Given the description of an element on the screen output the (x, y) to click on. 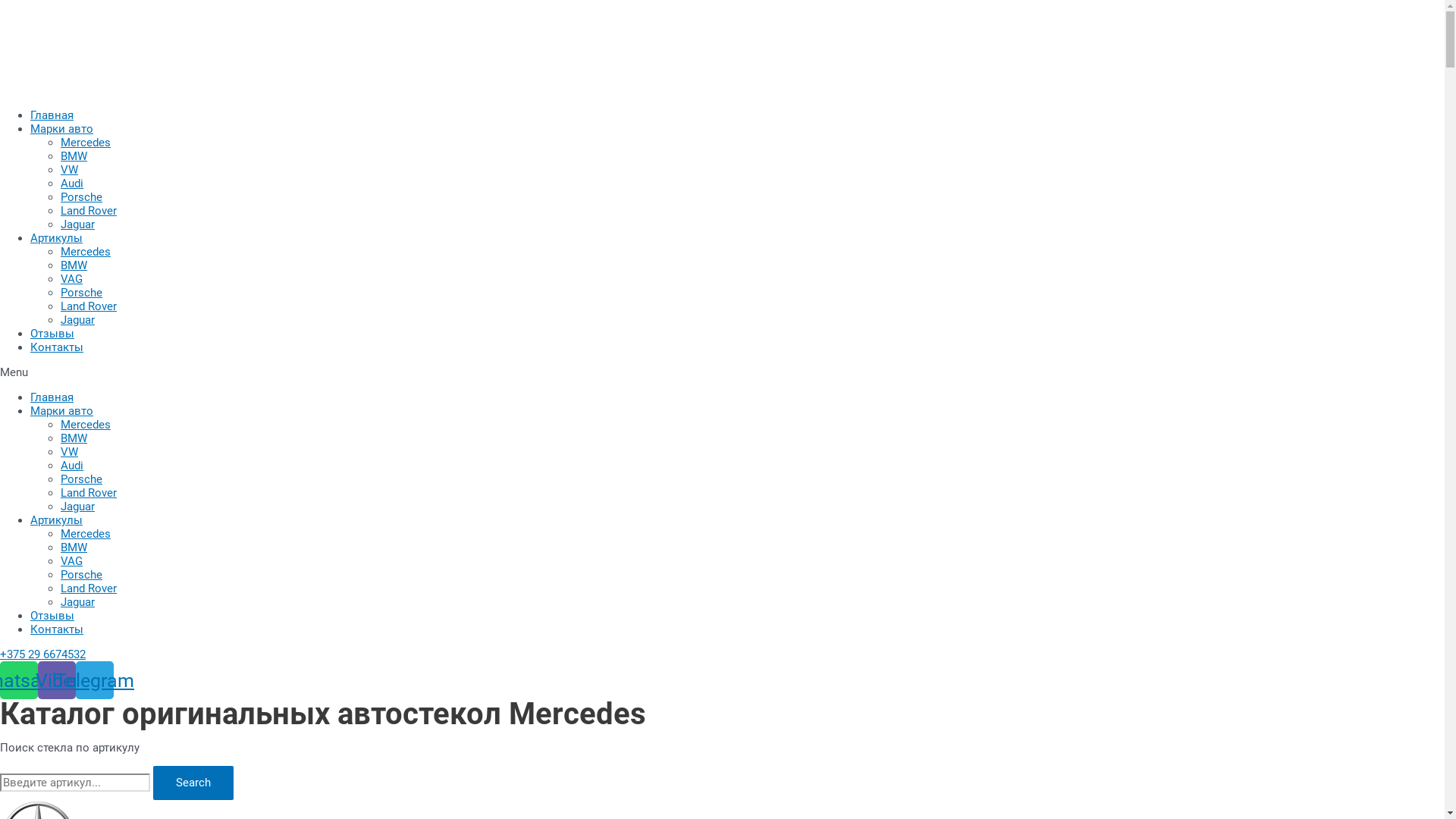
VW Element type: text (69, 451)
Porsche Element type: text (81, 574)
Mercedes Element type: text (85, 424)
Porsche Element type: text (81, 196)
Jaguar Element type: text (77, 601)
BMW Element type: text (73, 156)
VAG Element type: text (71, 560)
BMW Element type: text (73, 547)
VW Element type: text (69, 169)
Search Element type: text (193, 782)
Land Rover Element type: text (88, 588)
Land Rover Element type: text (88, 492)
Land Rover Element type: text (88, 210)
Land Rover Element type: text (88, 306)
Whatsapp Element type: text (18, 680)
Porsche Element type: text (81, 479)
Telegram Element type: text (94, 680)
VAG Element type: text (71, 278)
+375 29 6674532 Element type: text (42, 654)
Porsche Element type: text (81, 292)
Jaguar Element type: text (77, 506)
Viber Element type: text (56, 680)
Jaguar Element type: text (77, 224)
Search Element type: hover (75, 782)
Mercedes Element type: text (85, 251)
Jaguar Element type: text (77, 319)
Audi Element type: text (71, 183)
Audi Element type: text (71, 465)
BMW Element type: text (73, 265)
BMW Element type: text (73, 438)
Mercedes Element type: text (85, 533)
Mercedes Element type: text (85, 142)
